Given the description of an element on the screen output the (x, y) to click on. 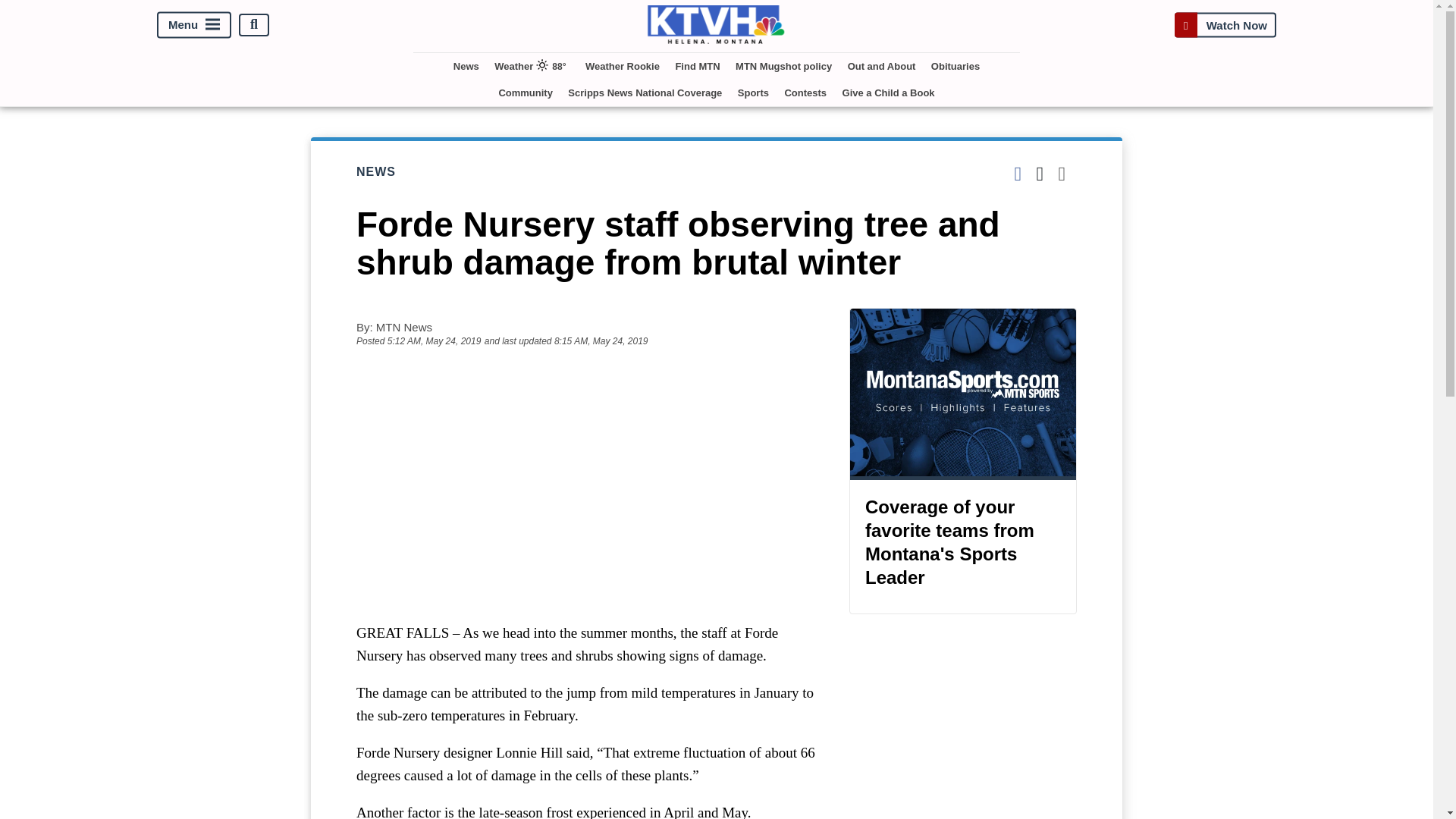
YouTube player (587, 477)
Watch Now (1224, 24)
Menu (194, 24)
